Given the description of an element on the screen output the (x, y) to click on. 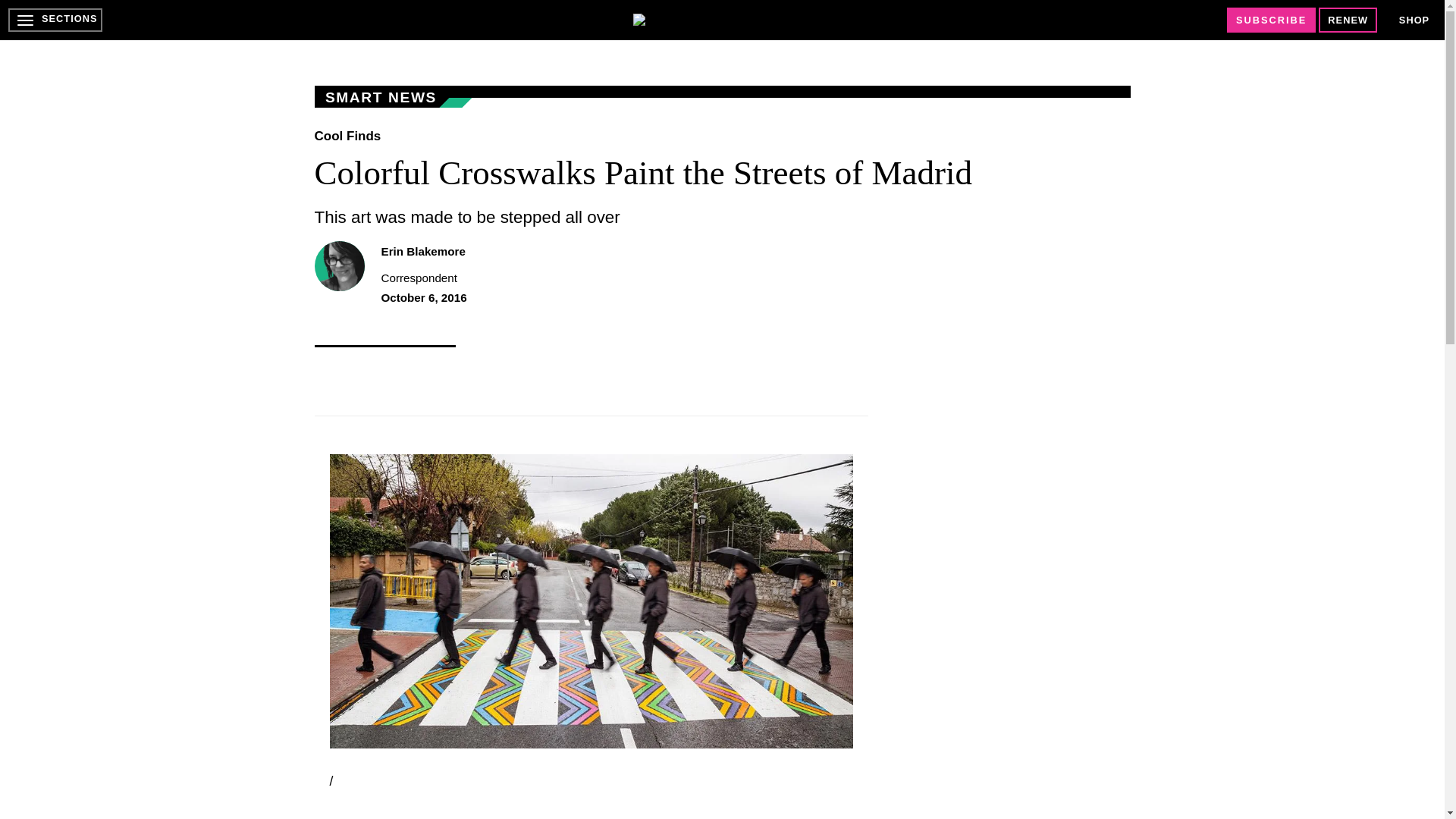
RENEW (1348, 19)
SHOP (1413, 19)
SECTIONS (55, 19)
RENEW (1347, 19)
SUBSCRIBE (1271, 19)
SHOP (1414, 19)
SUBSCRIBE (1271, 19)
